Given the description of an element on the screen output the (x, y) to click on. 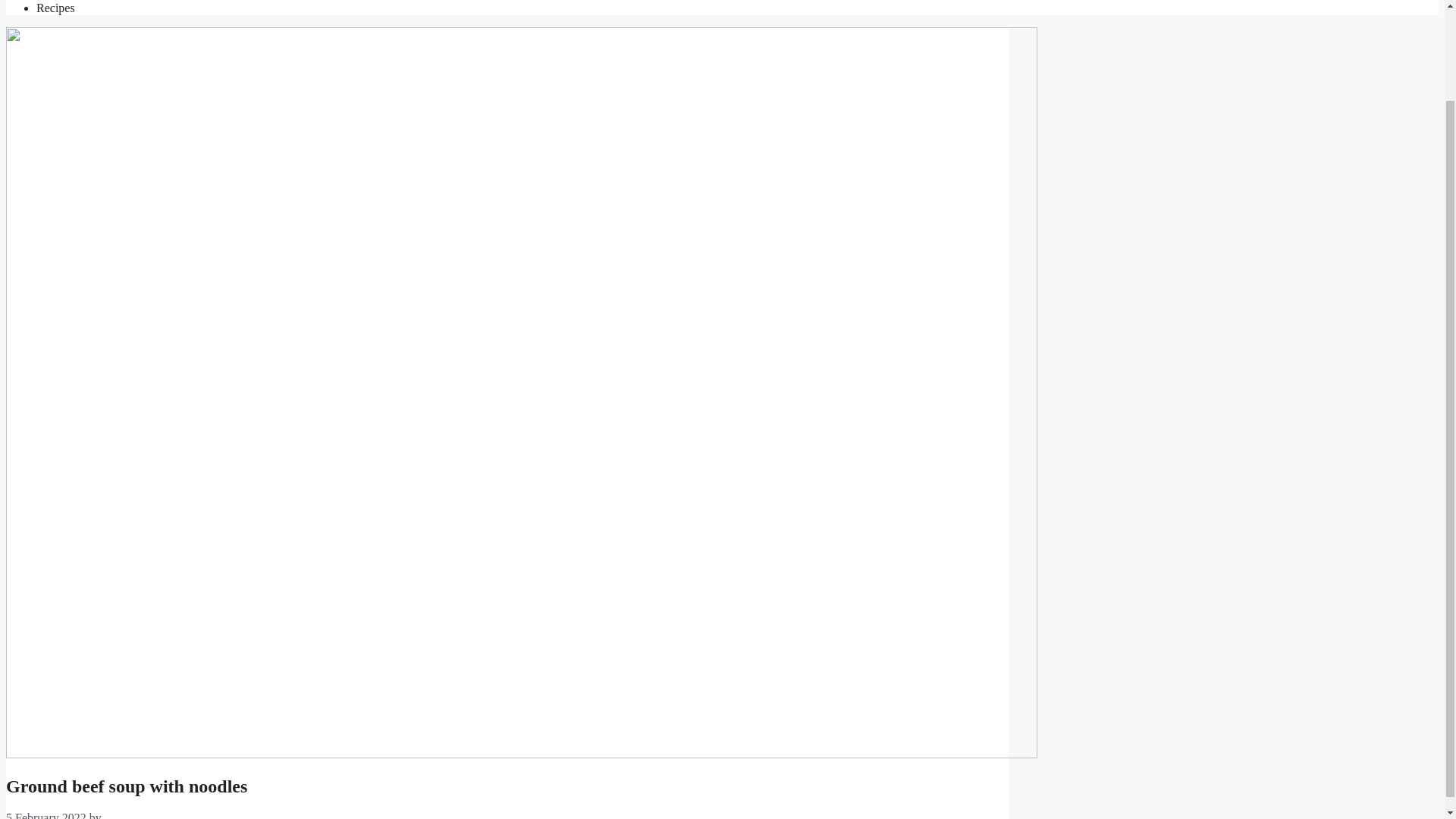
Reviews (57, 0)
Recipes (55, 7)
